Given the description of an element on the screen output the (x, y) to click on. 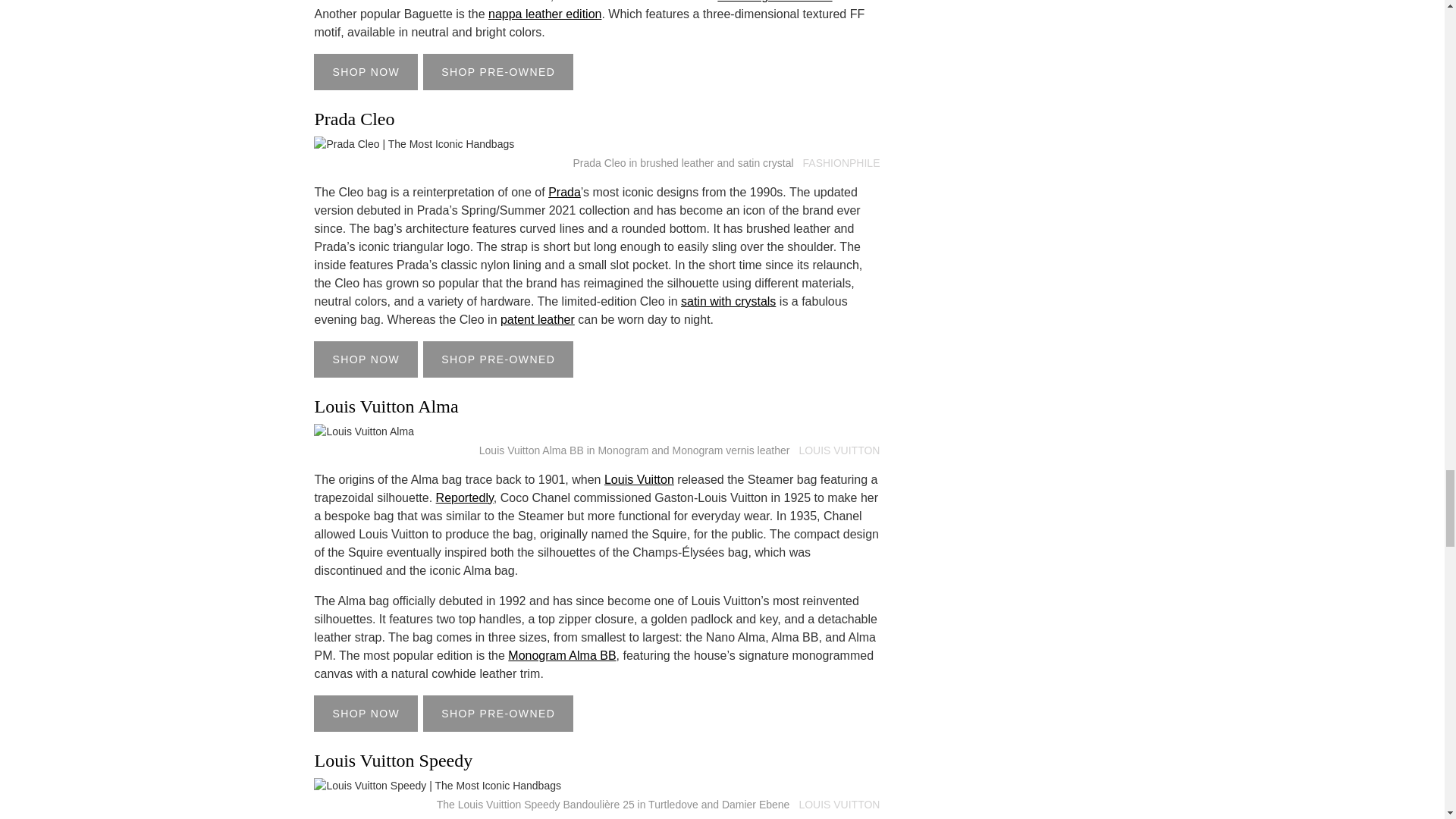
Prada Cleo (413, 144)
Louis Vuitton Alma (363, 431)
Louis Vuitton Speedy (437, 785)
